Given the description of an element on the screen output the (x, y) to click on. 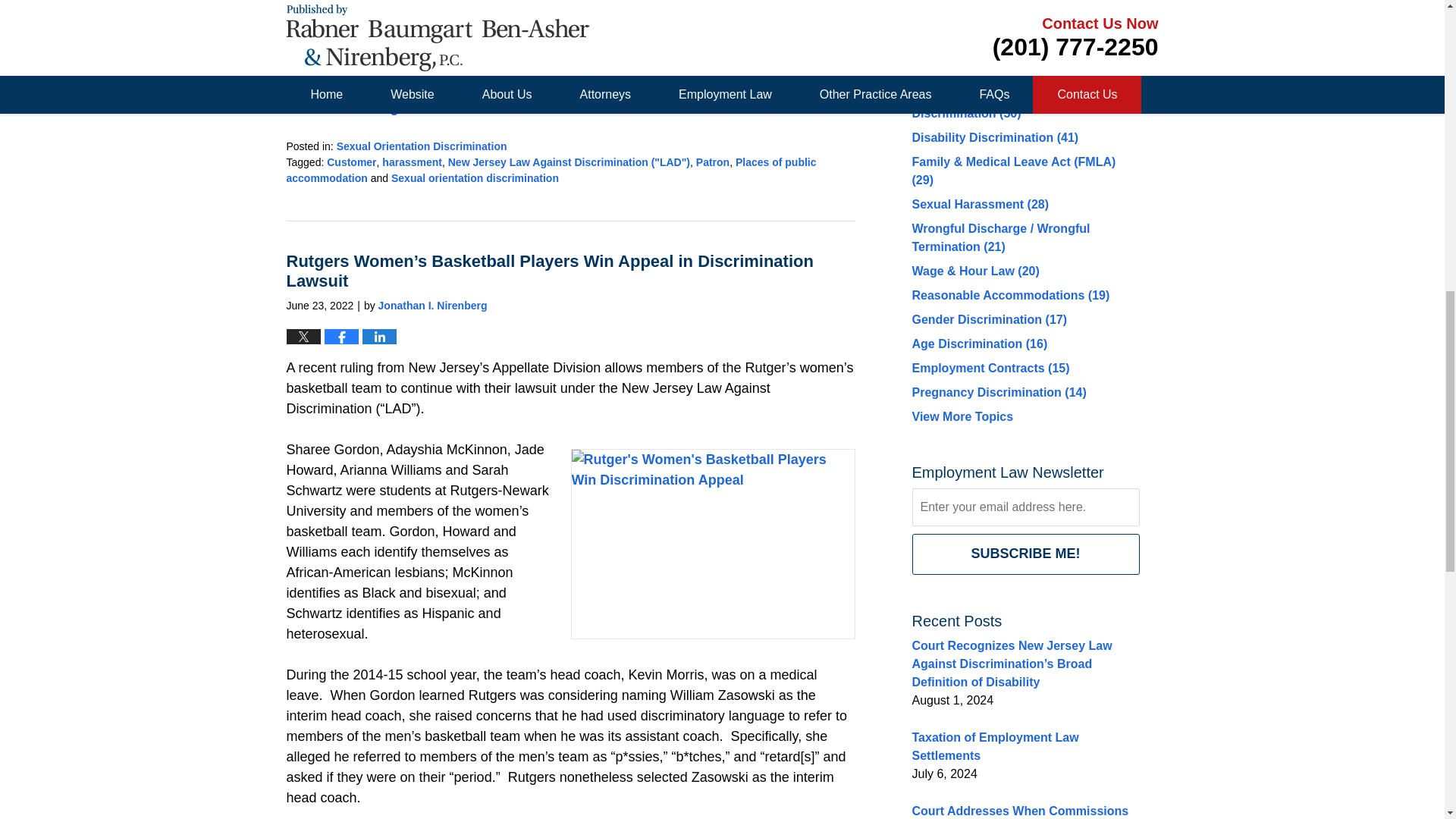
View all posts tagged with Patron (712, 162)
View all posts in Sexual Orientation Discrimination (421, 146)
View all posts tagged with Sexual orientation discrimination (475, 177)
View all posts tagged with Customer (350, 162)
View all posts tagged with Places of public accommodation (551, 170)
View all posts tagged with harassment (411, 162)
